Given the description of an element on the screen output the (x, y) to click on. 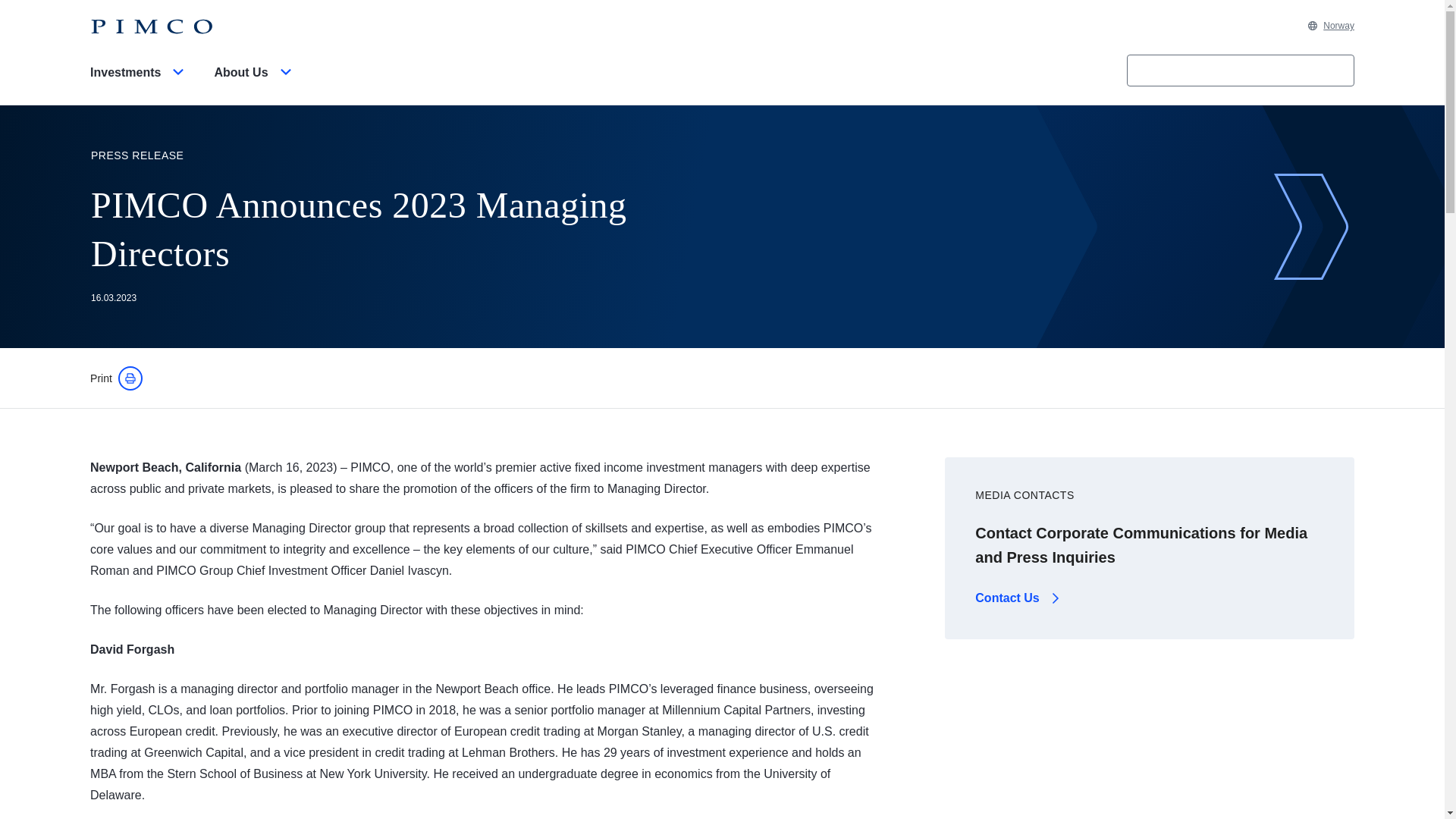
PIMCO Home (151, 27)
About Us (255, 84)
Print (116, 378)
Contact Us (1018, 598)
Norway (1330, 25)
Investments (139, 84)
